Given the description of an element on the screen output the (x, y) to click on. 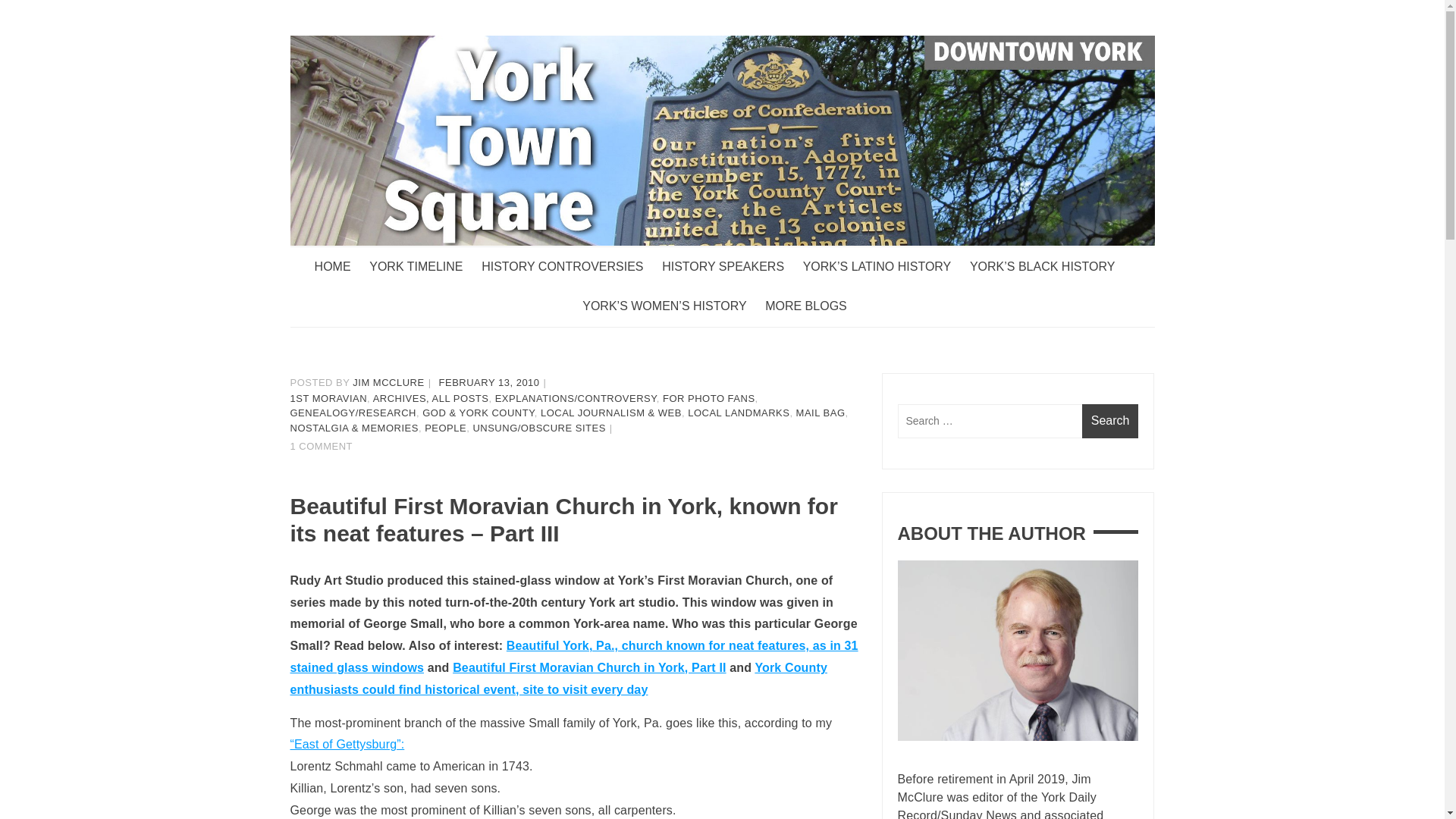
MORE BLOGS (813, 305)
JIM MCCLURE (387, 382)
Search (1109, 421)
York Town Square (394, 275)
HISTORY SPEAKERS (730, 266)
PEOPLE (445, 428)
Search (1109, 421)
FEBRUARY 13, 2010 (489, 382)
